Given the description of an element on the screen output the (x, y) to click on. 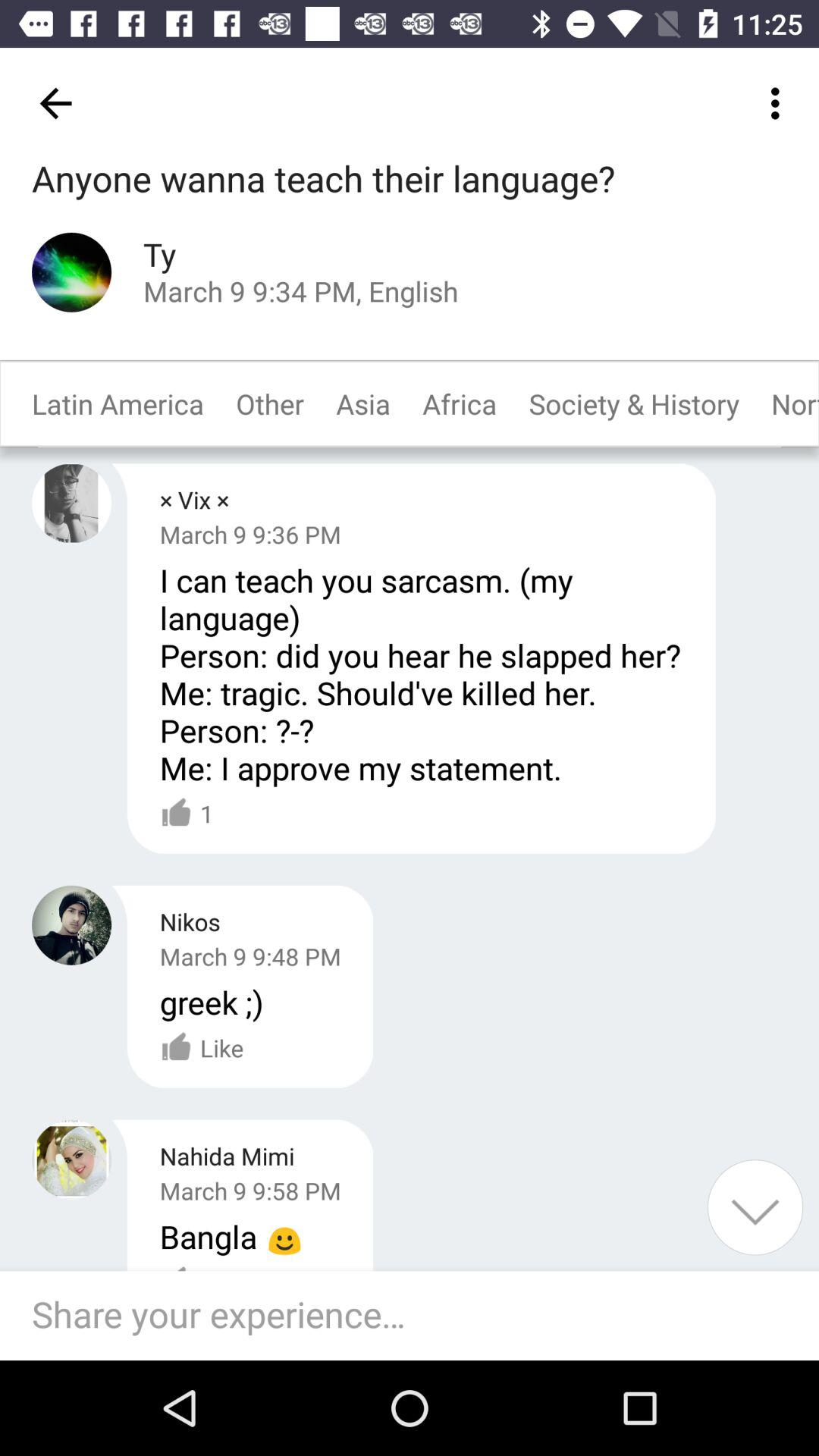
open profile picture (71, 272)
